Given the description of an element on the screen output the (x, y) to click on. 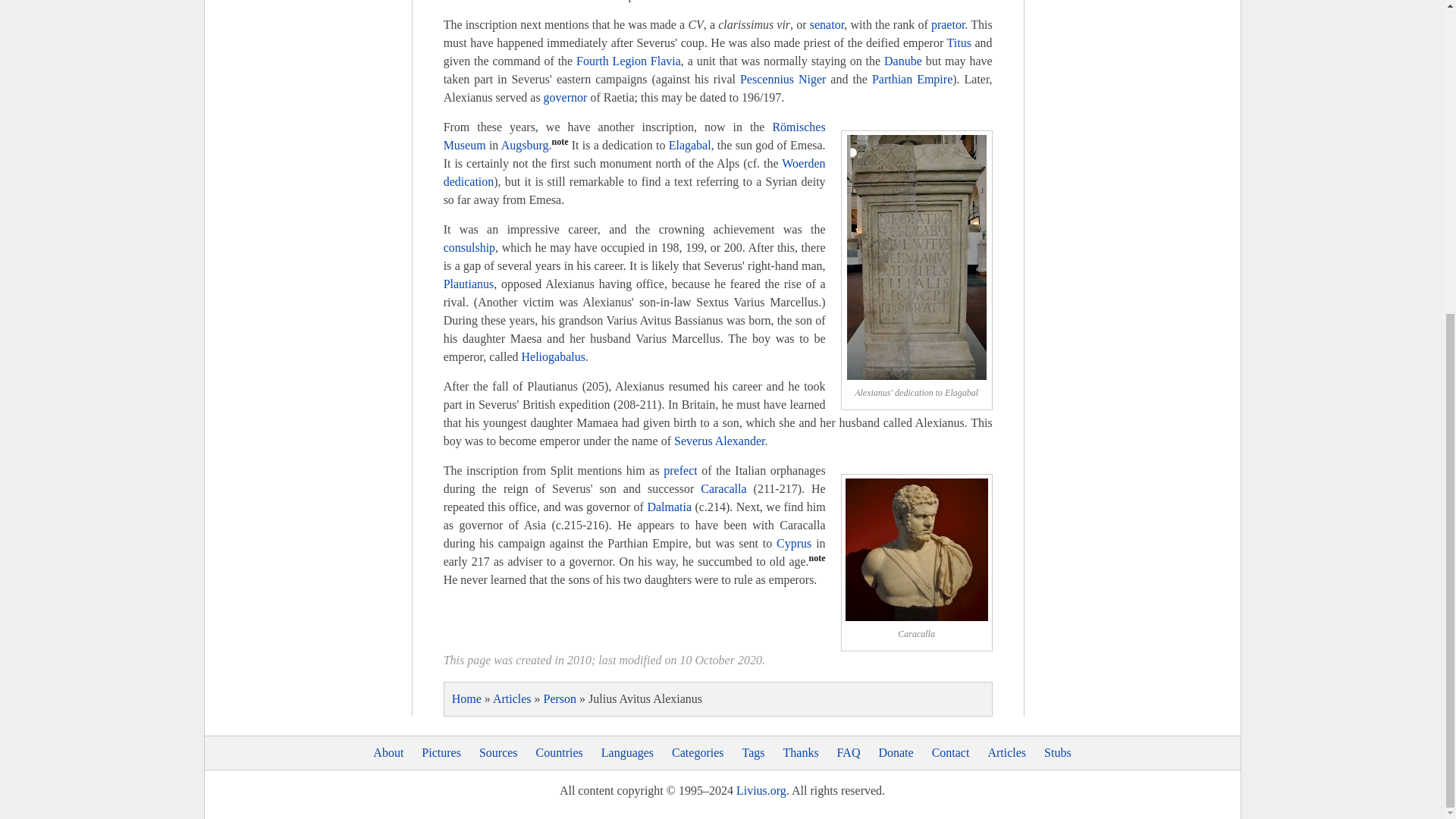
praetor (947, 24)
Pescennius Niger (782, 78)
Parthian Empire (912, 78)
Plautianus (469, 283)
governor (565, 97)
senator (826, 24)
Woerden dedication (634, 172)
Danube (902, 60)
Titus (959, 42)
Augsburg (524, 144)
